Given the description of an element on the screen output the (x, y) to click on. 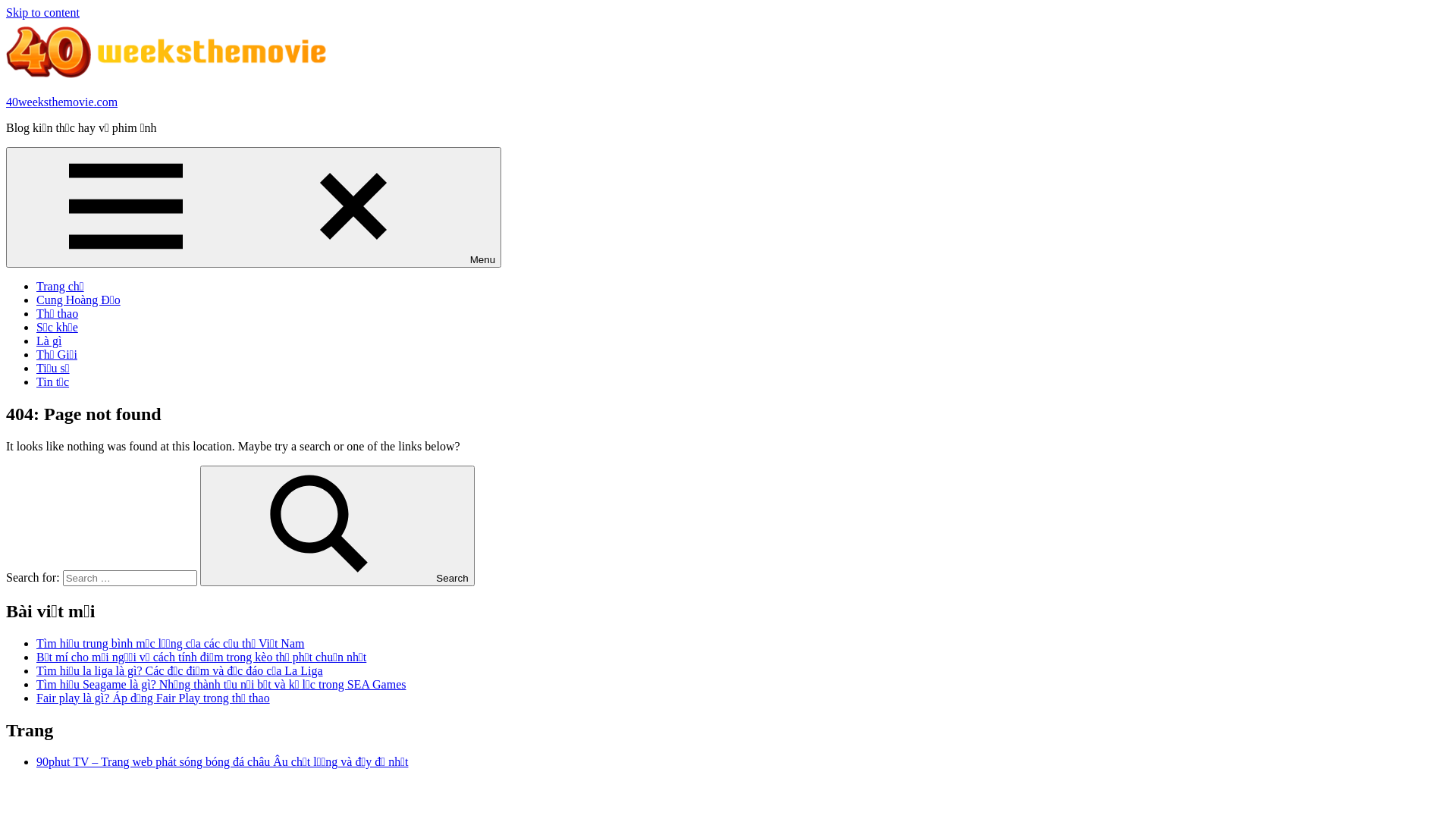
Skip to content Element type: text (42, 12)
Search for: Element type: hover (129, 578)
Search Element type: text (337, 525)
40weeksthemovie.com Element type: text (61, 101)
Menu Element type: text (253, 207)
